Given the description of an element on the screen output the (x, y) to click on. 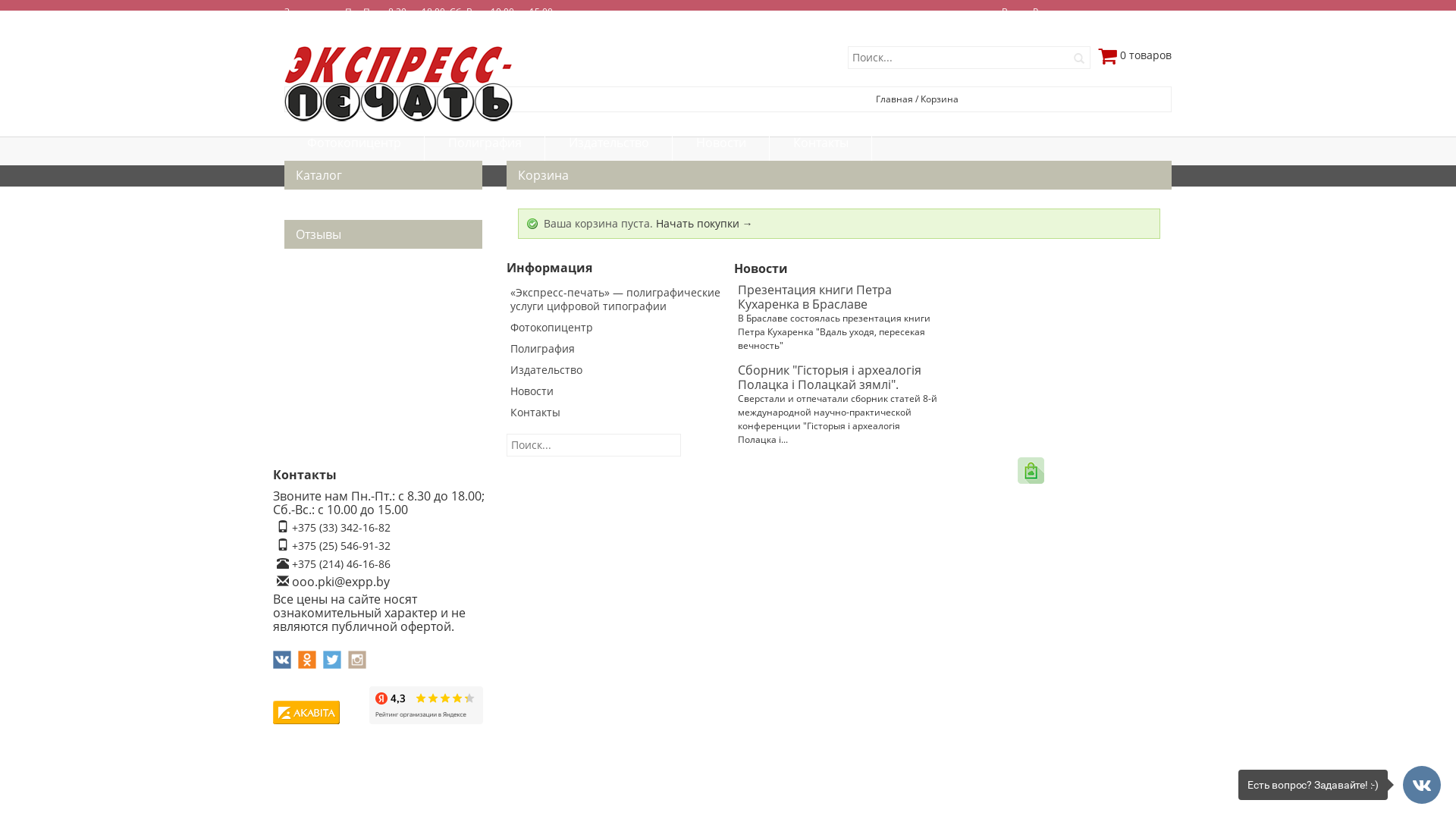
+375 (25) 546-91-32 Element type: text (340, 545)
+375 (214) 46-16-86 Element type: text (340, 563)
LiveInternet Element type: hover (354, 712)
+375 (33) 342-16-82 Element type: text (340, 527)
